Given the description of an element on the screen output the (x, y) to click on. 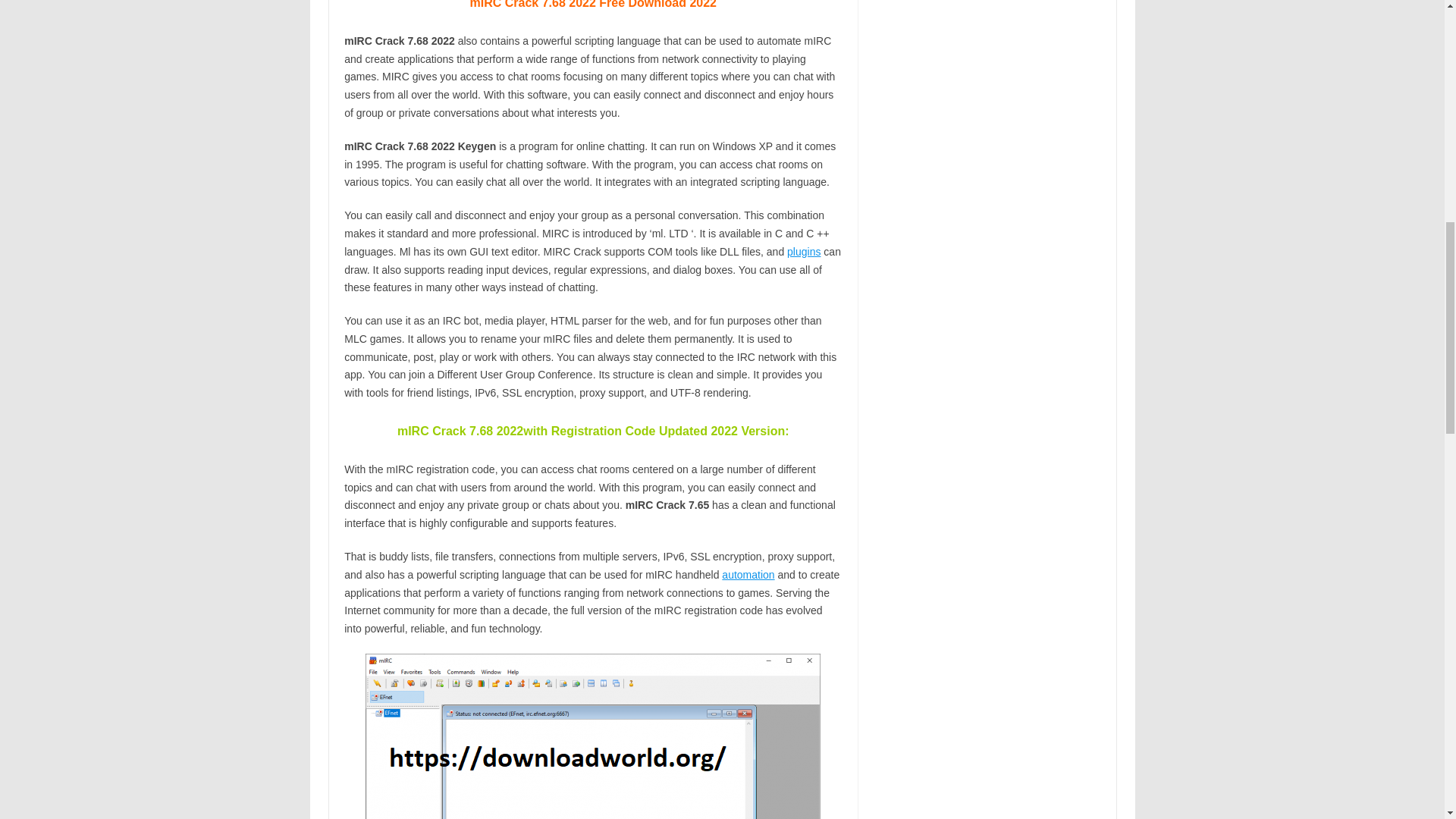
plugins (804, 251)
Advertisement (988, 577)
automation (748, 574)
